Given the description of an element on the screen output the (x, y) to click on. 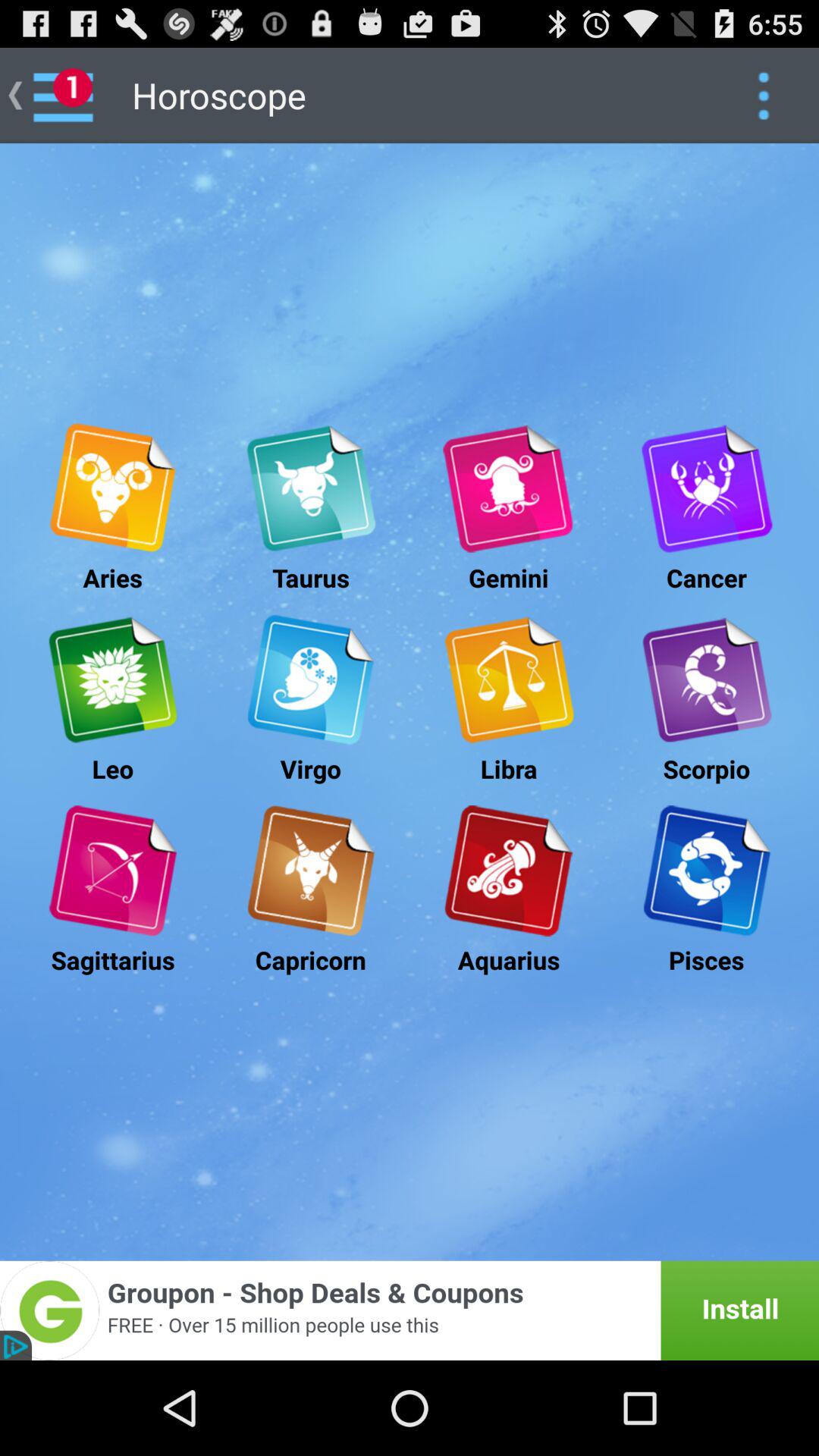
click aquarius icon (508, 870)
